Given the description of an element on the screen output the (x, y) to click on. 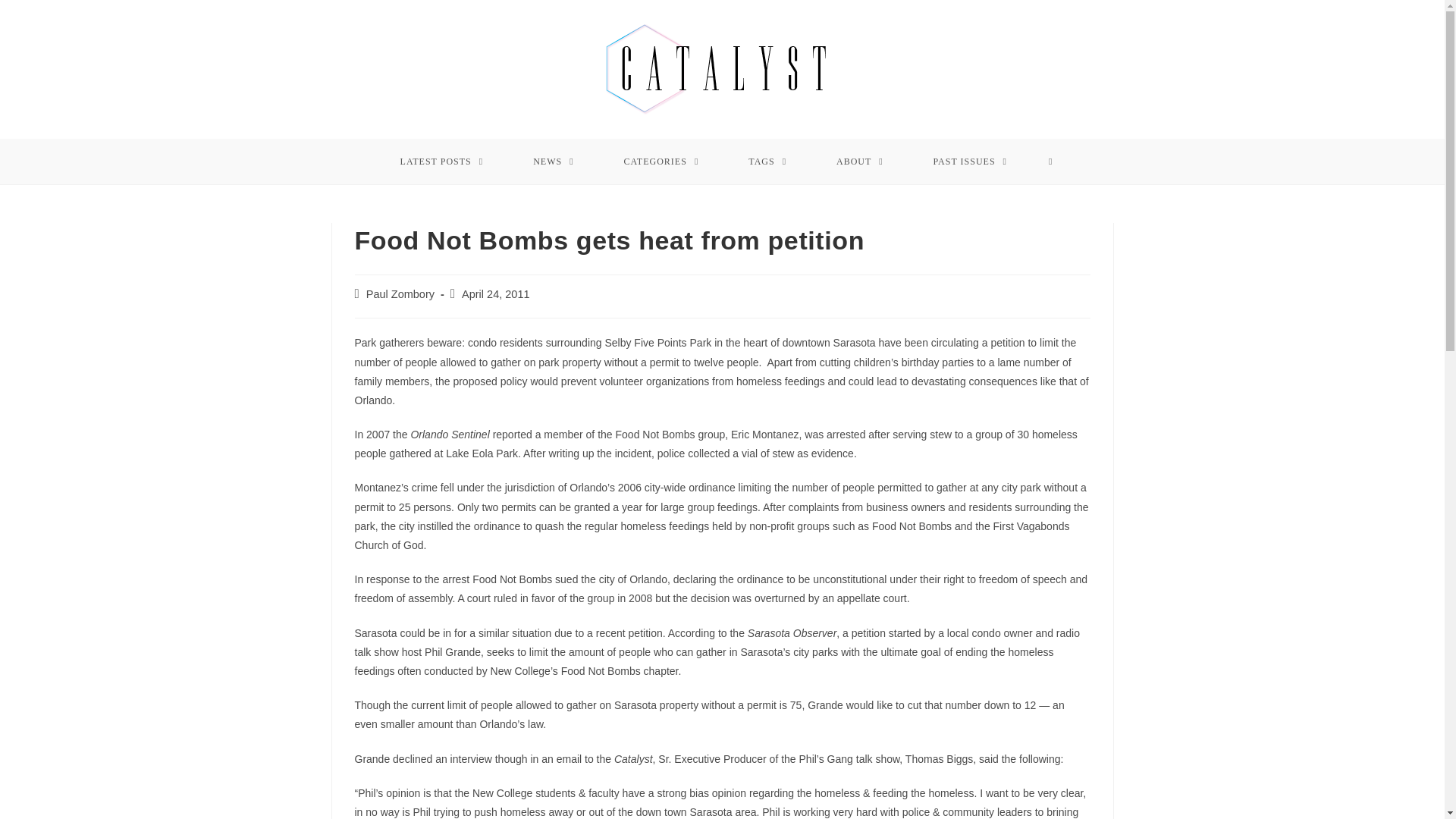
Posts by Paul Zombory (399, 294)
LATEST POSTS (441, 161)
ABOUT (859, 161)
CATEGORIES (660, 161)
Paul Zombory (399, 294)
PAST ISSUES (970, 161)
TAGS (766, 161)
NEWS (553, 161)
